Given the description of an element on the screen output the (x, y) to click on. 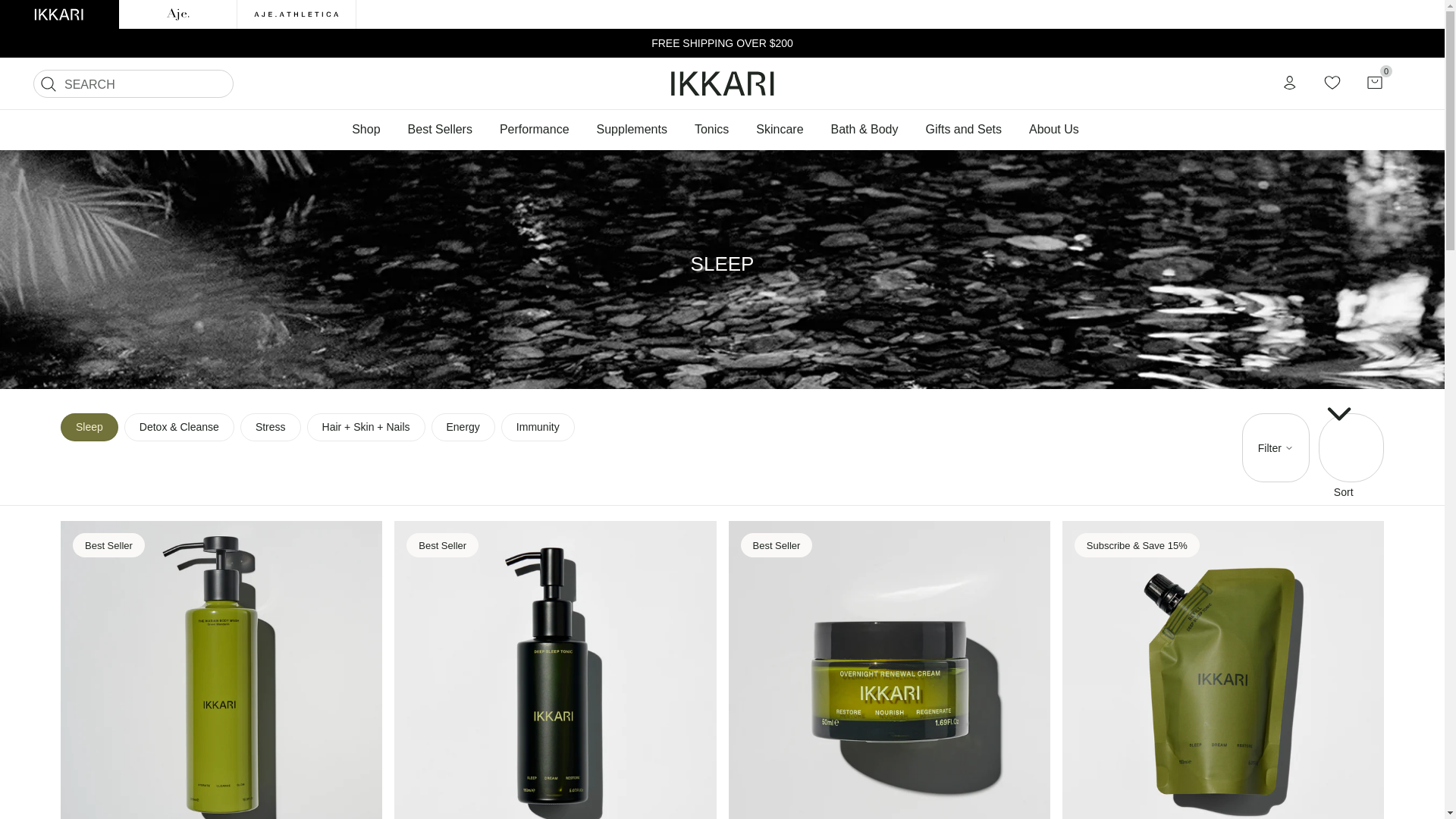
Shop (372, 129)
Performance (534, 129)
Gifts and Sets (962, 129)
Performance (534, 129)
Tonics (711, 129)
Supplements (632, 129)
Tonics (711, 129)
Shop (372, 129)
Skincare (779, 129)
Gifts and Sets (962, 129)
About Us (1053, 129)
Best Sellers (440, 129)
Supplements (632, 129)
Skincare (779, 129)
